Given the description of an element on the screen output the (x, y) to click on. 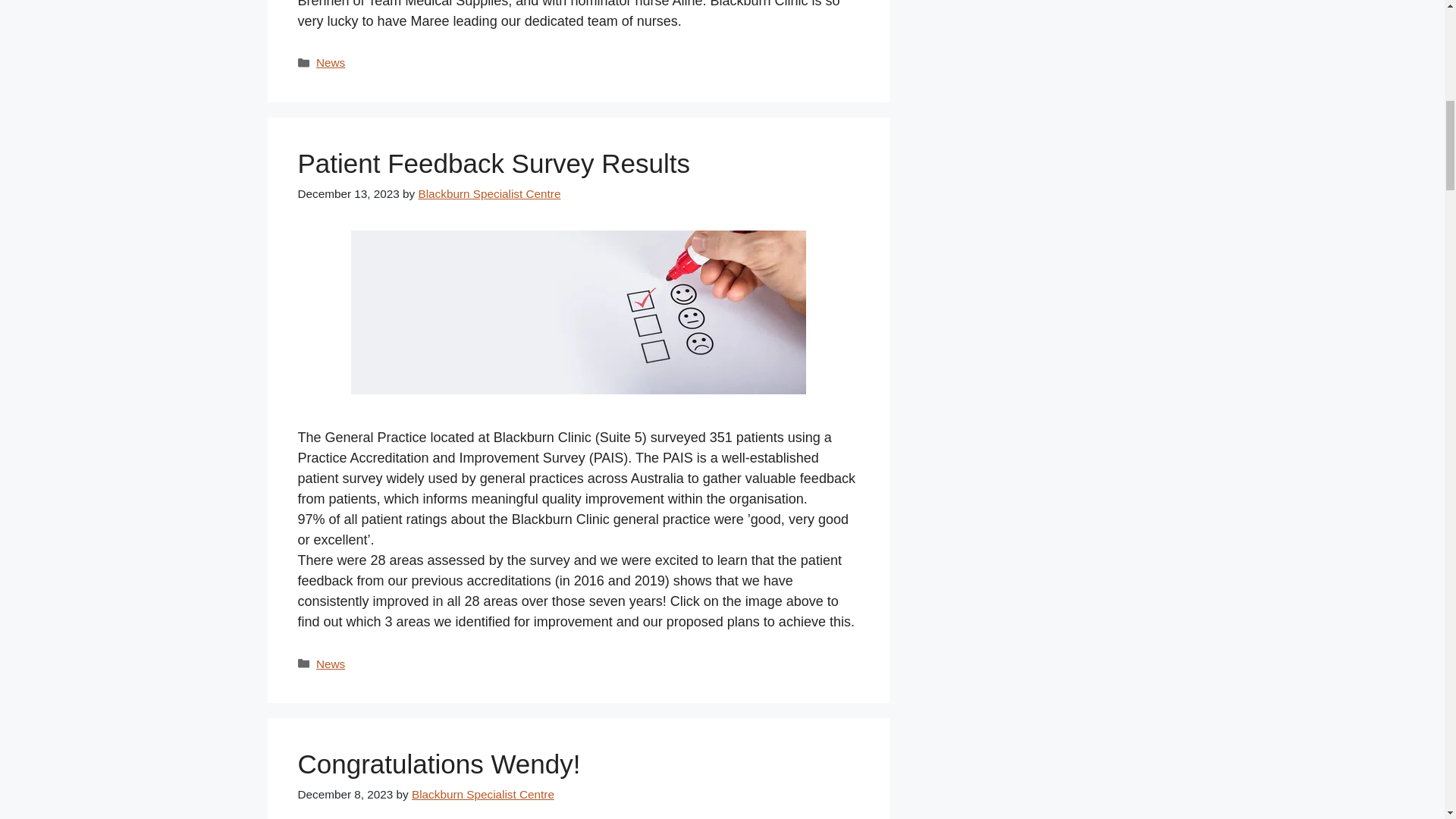
View all posts by Blackburn Specialist Centre (489, 193)
Blackburn Specialist Centre (483, 793)
News (330, 663)
View all posts by Blackburn Specialist Centre (483, 793)
Congratulations Wendy! (438, 763)
Patient Feedback Survey Results (492, 163)
Scroll back to top (1406, 720)
News (330, 62)
Blackburn Specialist Centre (489, 193)
